Given the description of an element on the screen output the (x, y) to click on. 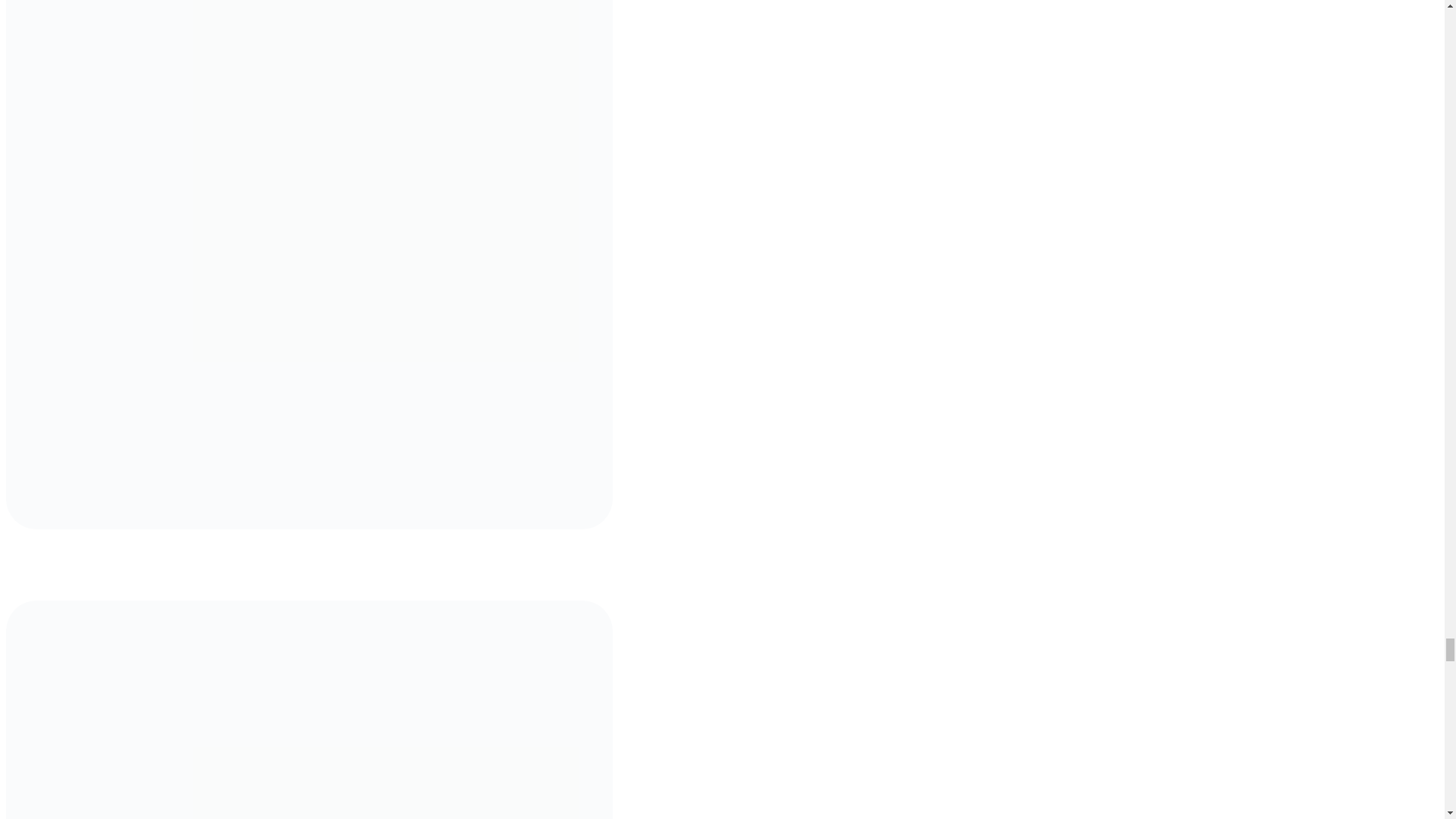
Businesswoman using laptop at the airport (308, 709)
